Given the description of an element on the screen output the (x, y) to click on. 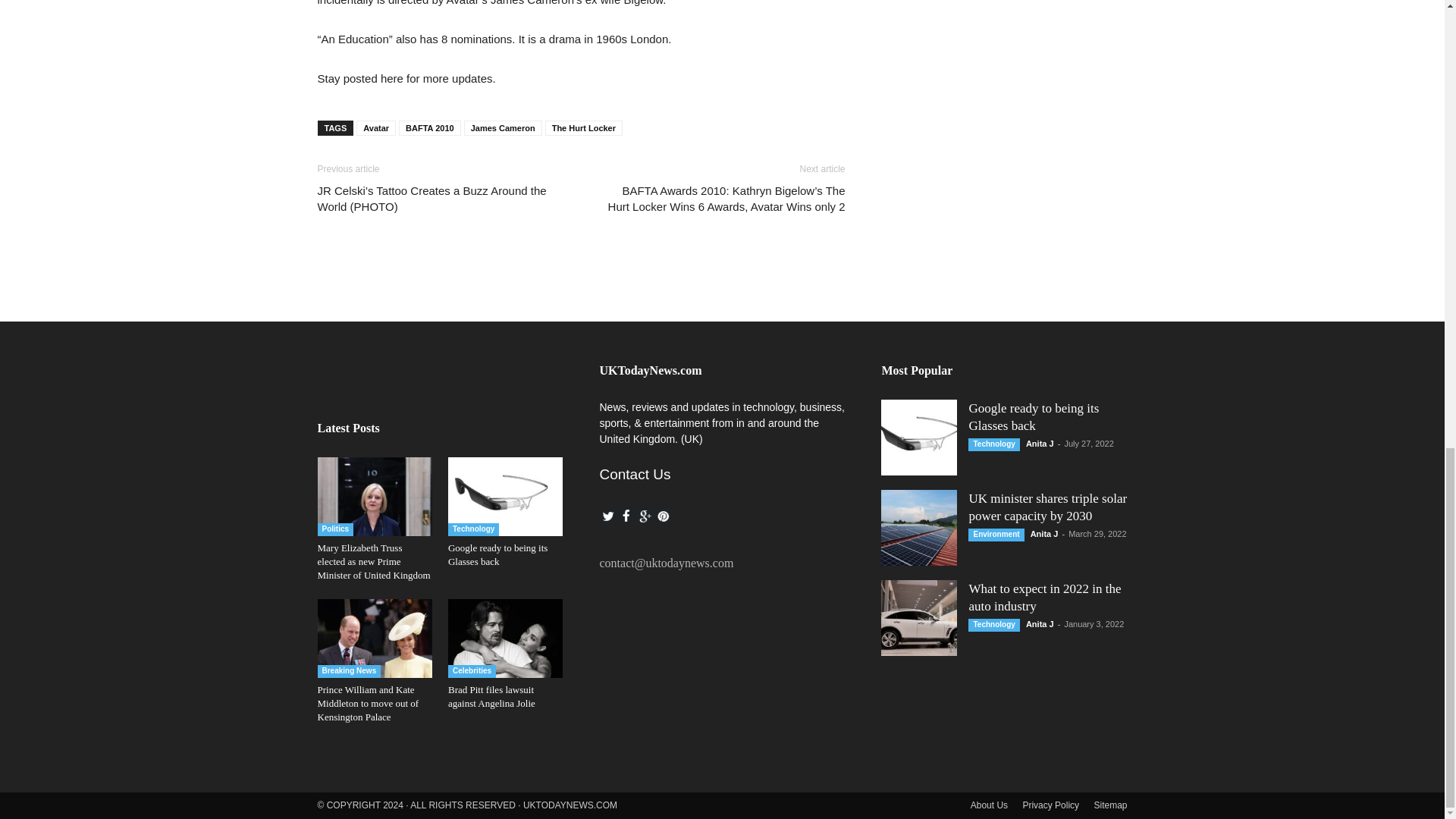
Google ready to being its Glasses back (505, 496)
Google ready to being its Glasses back (497, 554)
